Given the description of an element on the screen output the (x, y) to click on. 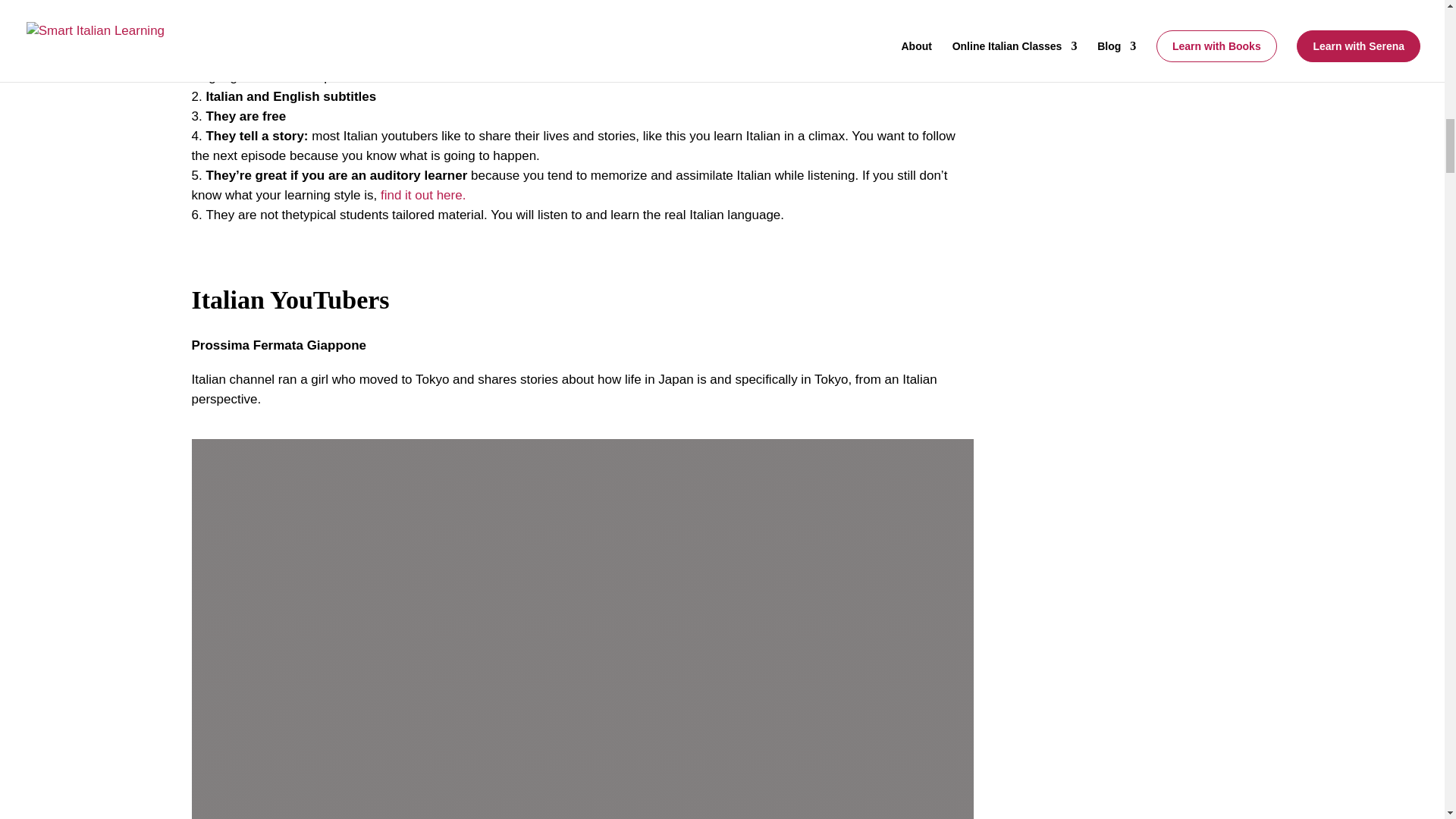
find it out here. (422, 195)
